Given the description of an element on the screen output the (x, y) to click on. 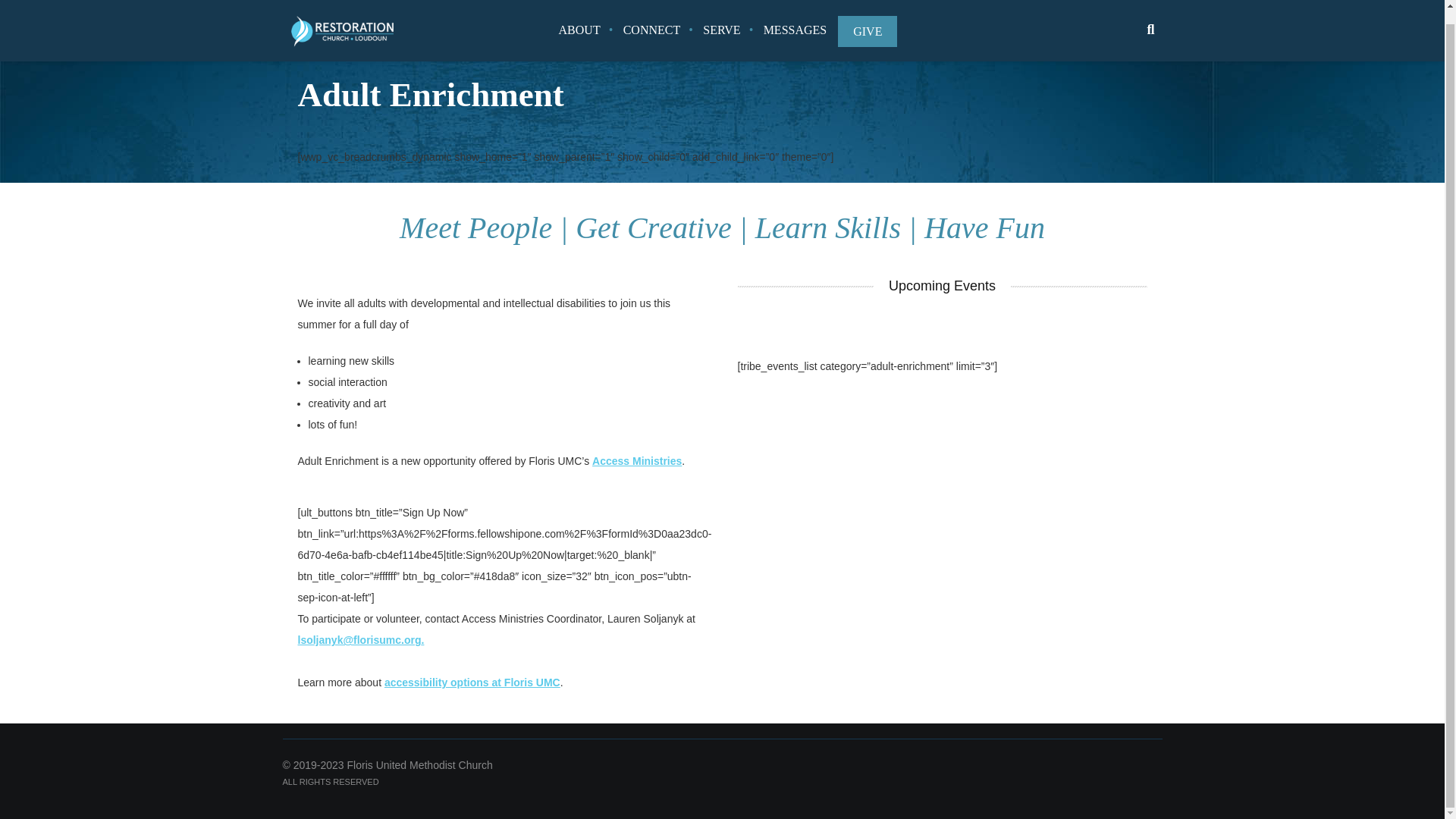
MESSAGES (795, 23)
SERVE (721, 23)
CONNECT (652, 23)
ABOUT (579, 23)
Access Ministries (636, 460)
GIVE (867, 17)
